Given the description of an element on the screen output the (x, y) to click on. 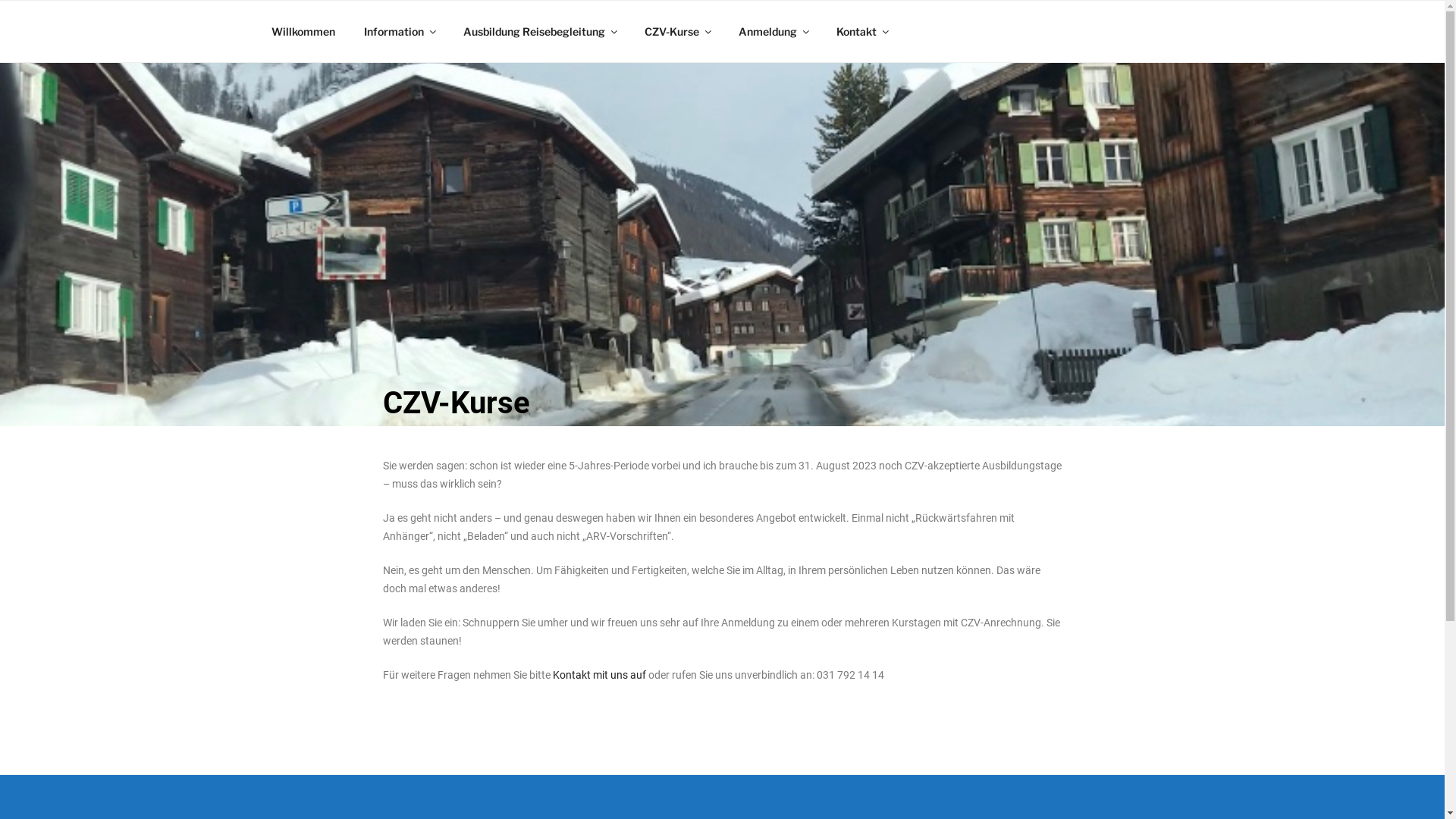
CZV-Kurse Element type: text (676, 31)
Information Element type: text (398, 31)
Ausbildung Reisebegleitung Element type: text (539, 31)
Kontakt Element type: text (861, 31)
Kontakt mit uns auf Element type: text (598, 674)
Willkommen Element type: text (302, 31)
Anmeldung Element type: text (772, 31)
